Given the description of an element on the screen output the (x, y) to click on. 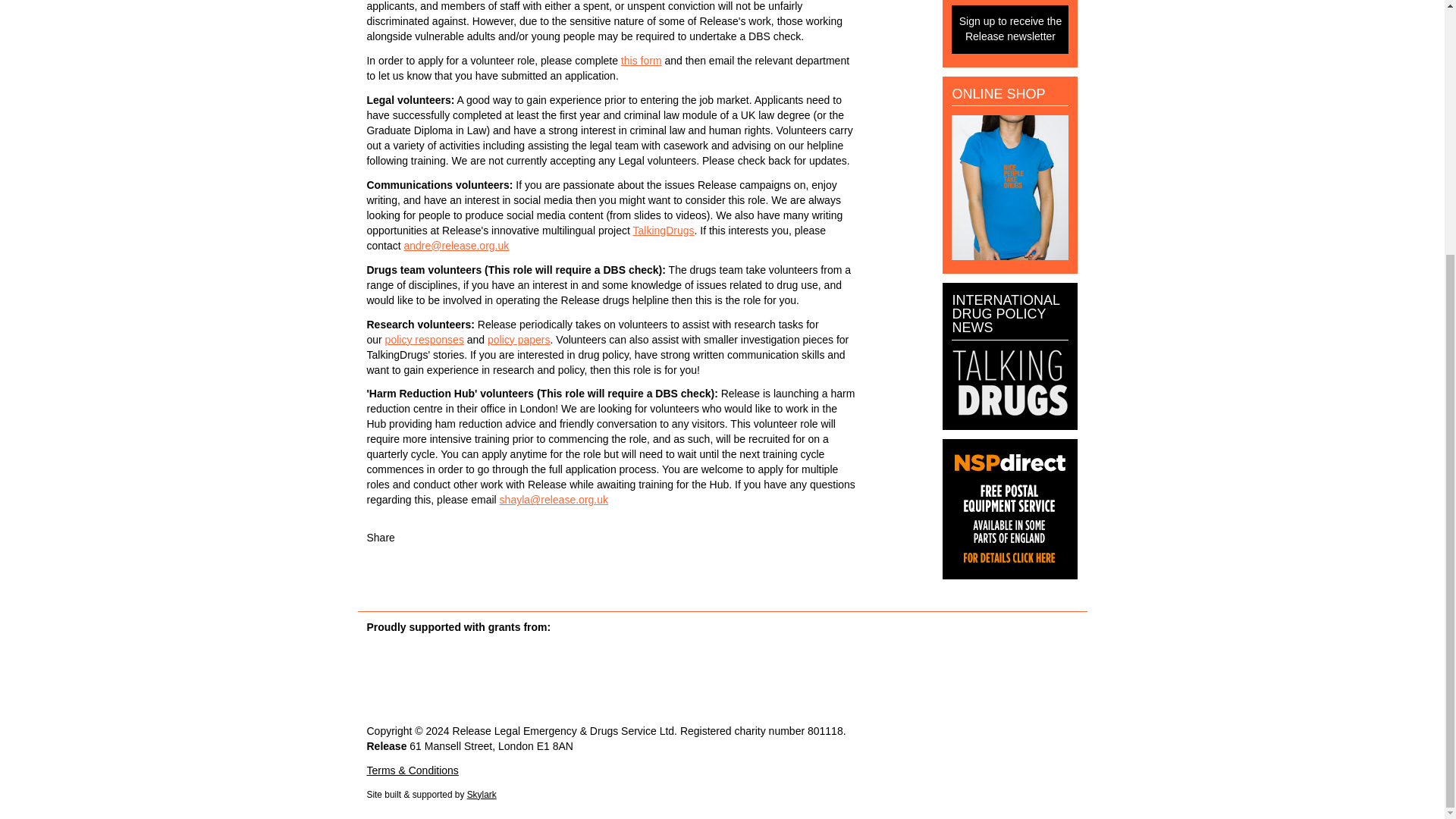
this form (641, 60)
Facebook (408, 536)
policy papers (518, 339)
Twitter (427, 536)
The Release Shop (1010, 256)
International Drug Policy News (1010, 412)
policy responses (424, 339)
TalkingDrugs (663, 230)
